Given the description of an element on the screen output the (x, y) to click on. 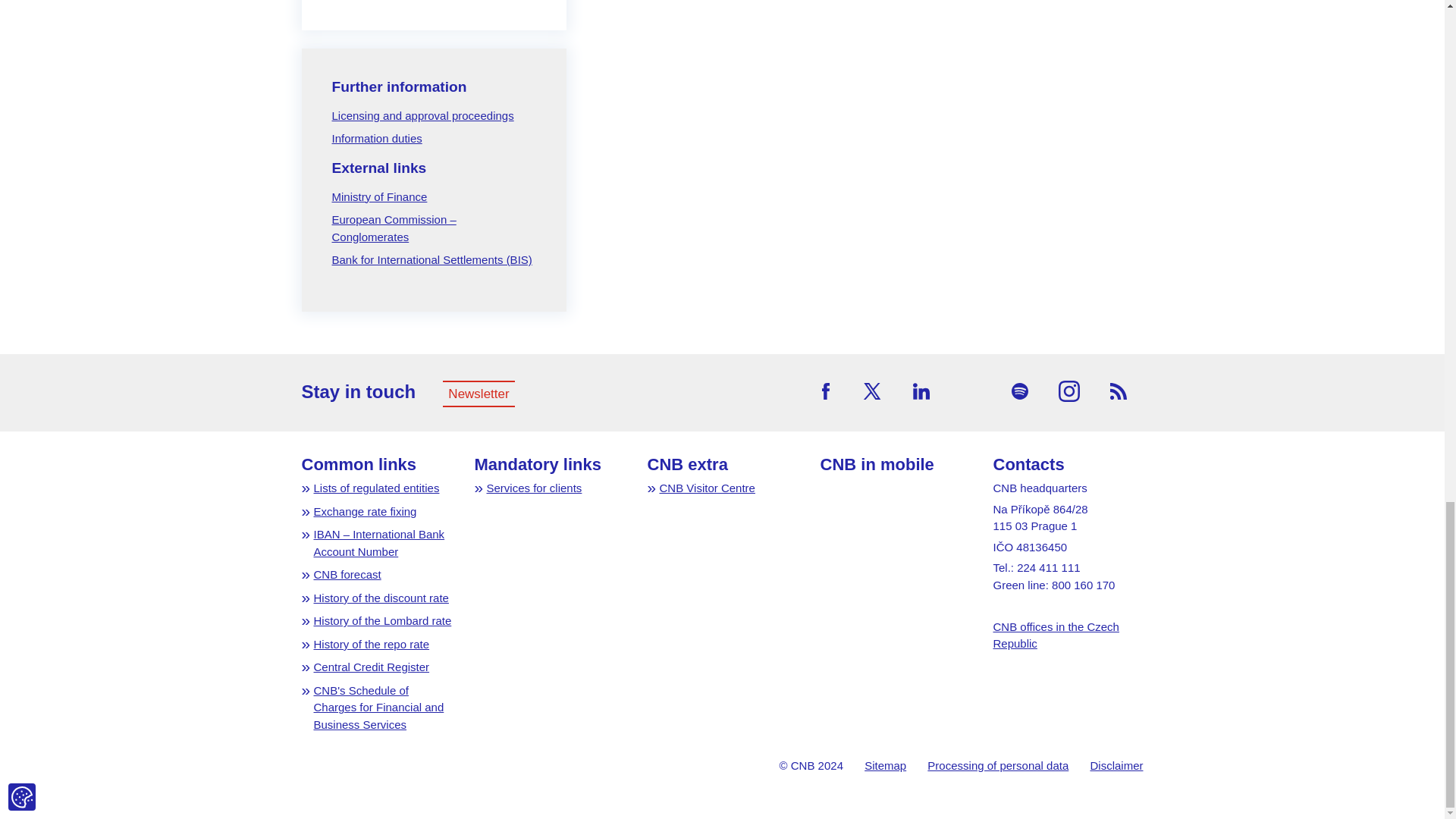
Google Play (866, 492)
Apple App Store (858, 528)
Instagram (1069, 391)
LinkedIn (920, 390)
Twitter (871, 390)
Spotify (1019, 391)
RSS (1118, 391)
